Given the description of an element on the screen output the (x, y) to click on. 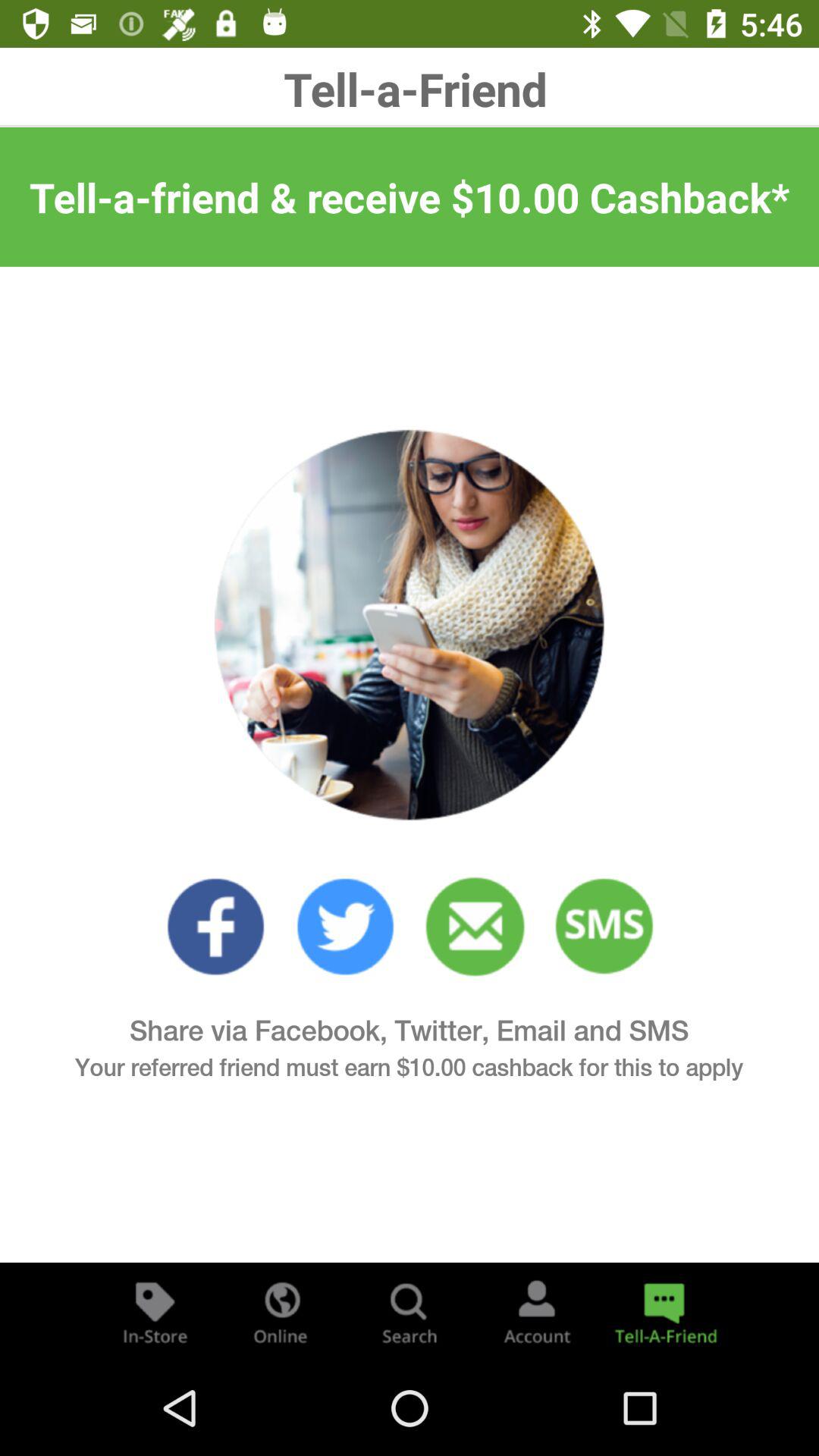
visit the companies website (281, 1311)
